Given the description of an element on the screen output the (x, y) to click on. 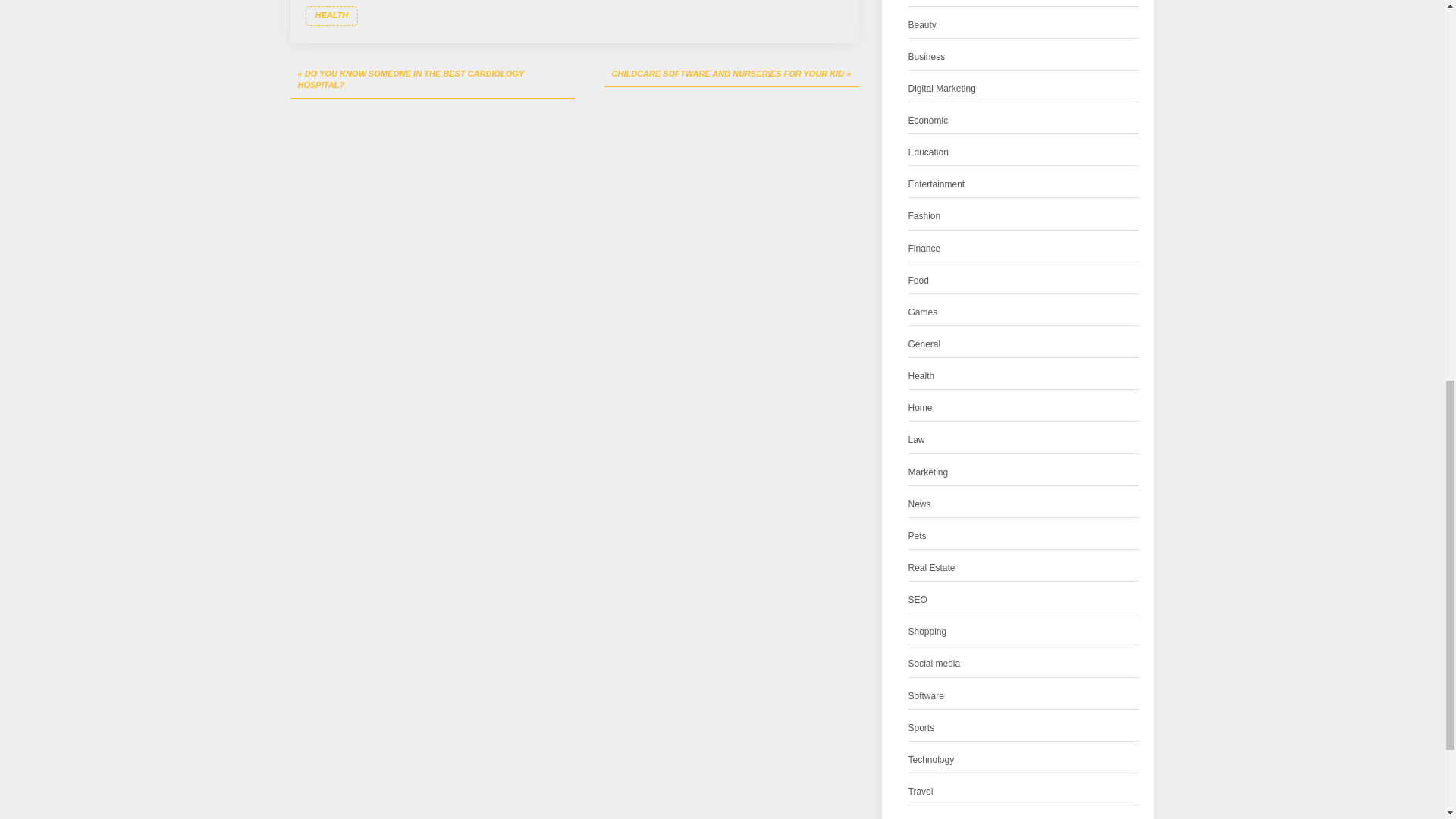
CHILDCARE SOFTWARE AND NURSERIES FOR YOUR KID (731, 74)
Digital Marketing (941, 89)
Economic (928, 120)
General (924, 344)
Fashion (924, 216)
Finance (924, 248)
Entertainment (936, 184)
Food (918, 280)
Business (926, 57)
DO YOU KNOW SOMEONE IN THE BEST CARDIOLOGY HOSPITAL? (431, 80)
